Given the description of an element on the screen output the (x, y) to click on. 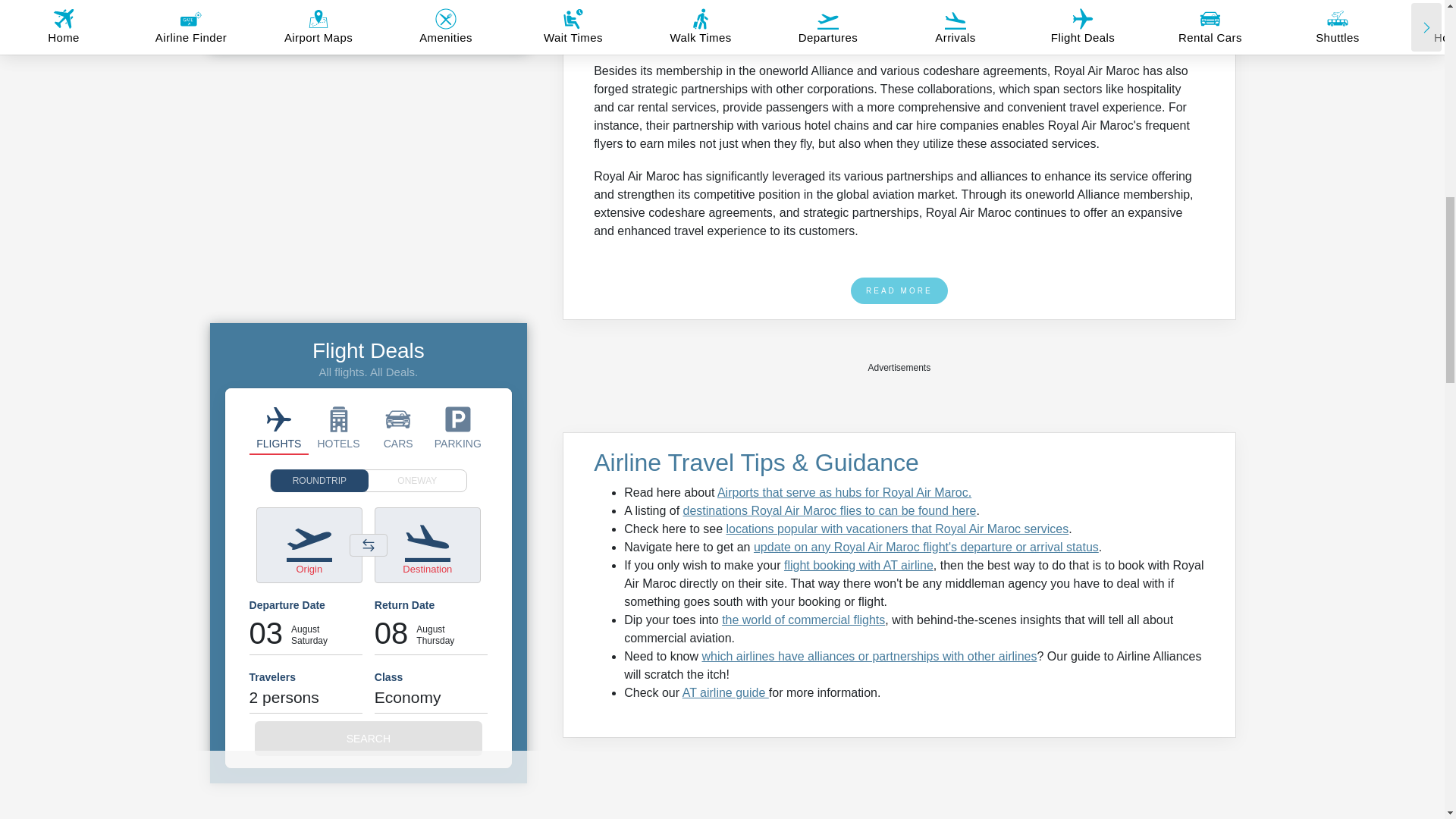
 Flight Deals (278, 427)
Hotel Deals (338, 427)
Off-Airport Parking (457, 427)
Airport Rental Cars (398, 427)
